Given the description of an element on the screen output the (x, y) to click on. 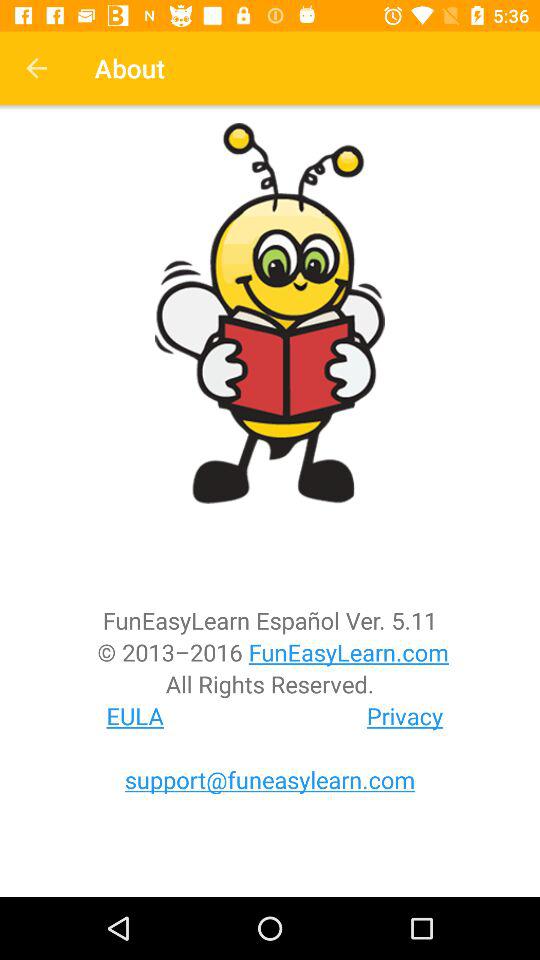
open the privacy at the bottom right corner (405, 715)
